Given the description of an element on the screen output the (x, y) to click on. 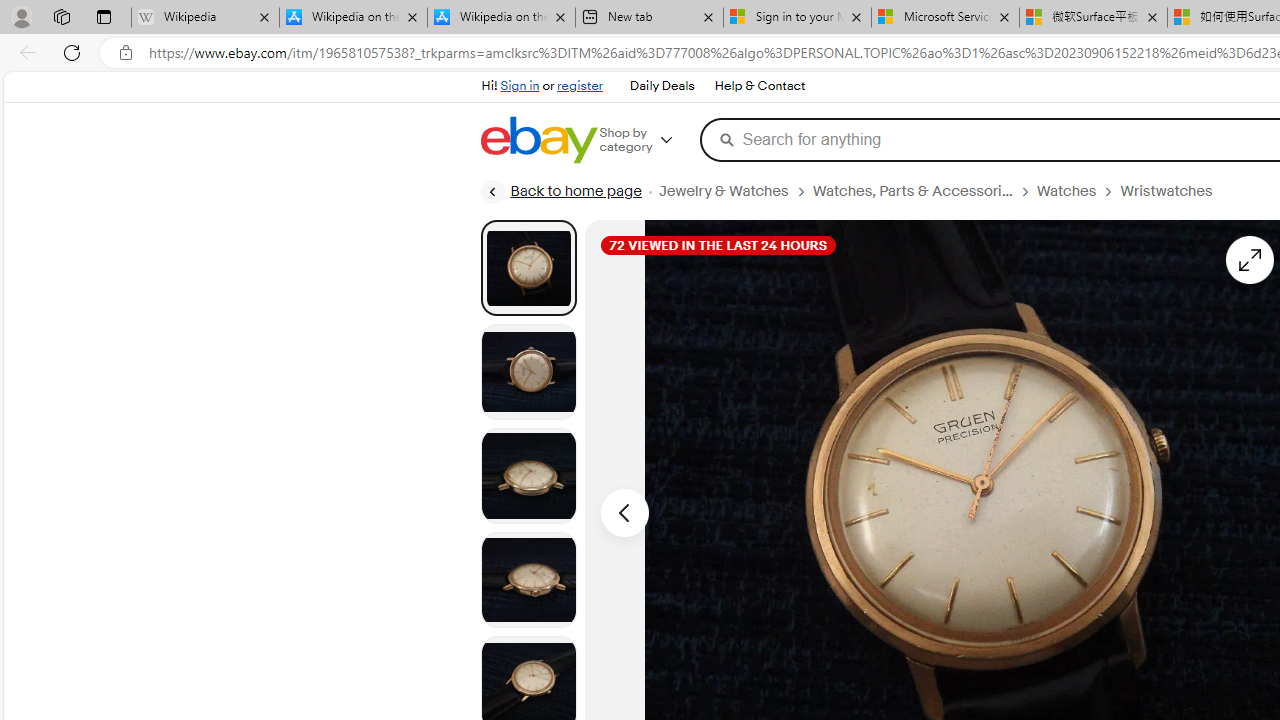
Watches (1078, 191)
Daily Deals (662, 86)
eBay Home (538, 139)
Picture 2 of 8 (528, 371)
Opens image gallery (1248, 259)
eBay Home (538, 139)
